Given the description of an element on the screen output the (x, y) to click on. 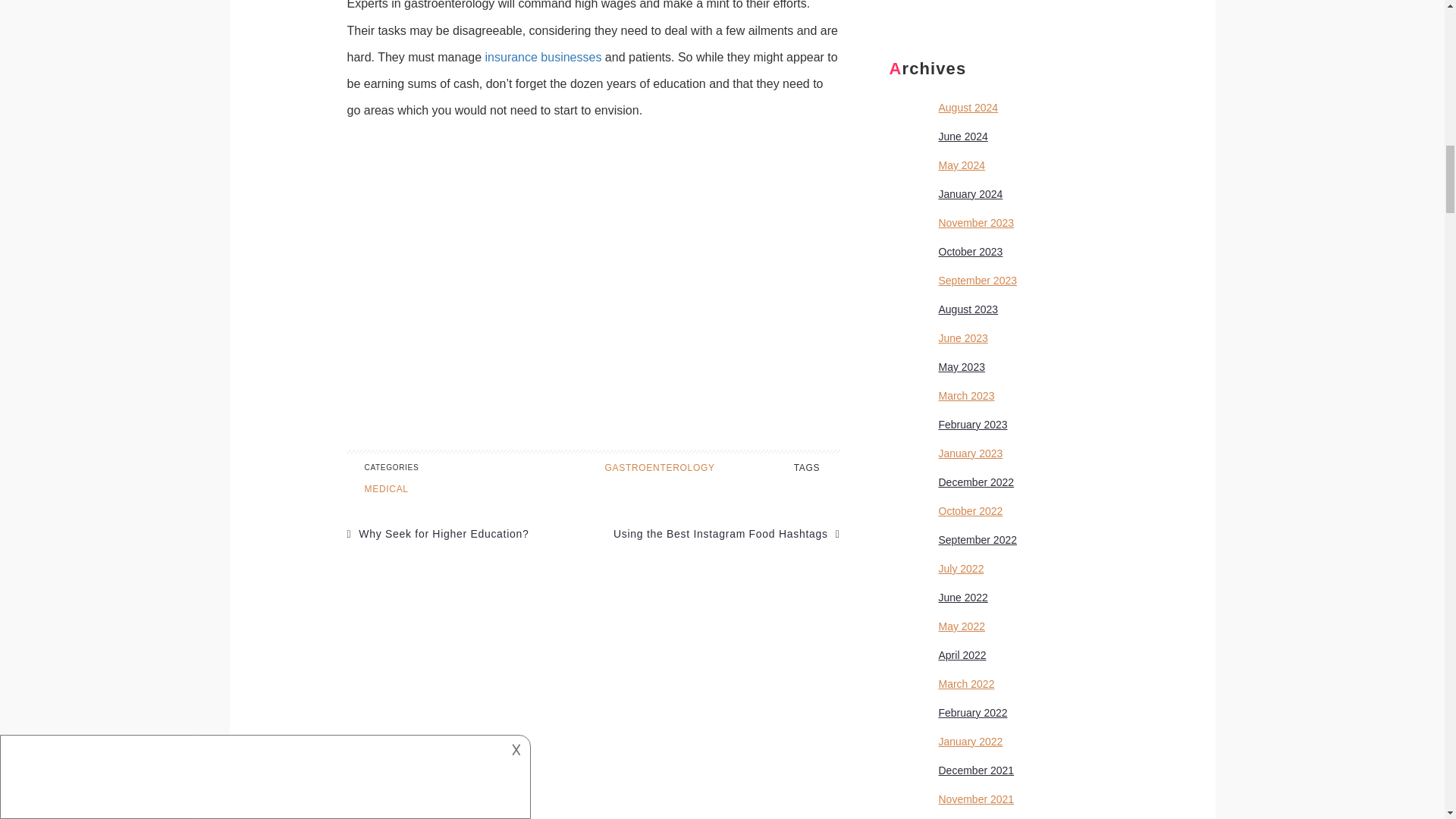
Why Seek for Higher Education? (438, 533)
insurance businesses (543, 56)
November 2023 (976, 223)
August 2024 (968, 107)
MEDICAL (385, 489)
GASTROENTEROLOGY (659, 467)
June 2024 (963, 136)
May 2024 (962, 164)
Using the Best Instagram Food Hashtags (726, 533)
